Given the description of an element on the screen output the (x, y) to click on. 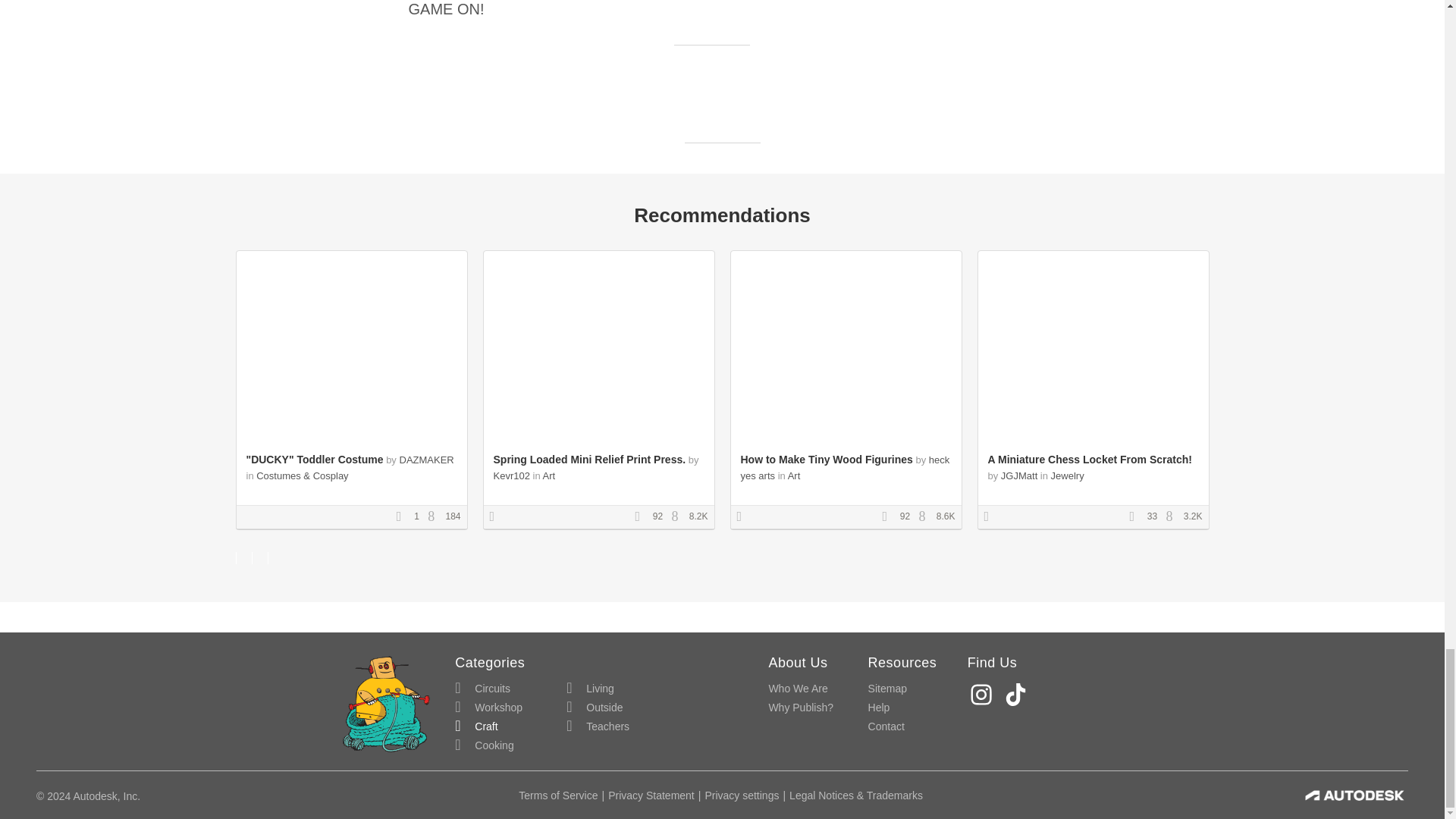
TikTok (1018, 694)
JGJMatt (1018, 475)
Art (549, 475)
Spring Loaded Mini Relief Print Press. (589, 459)
Art (793, 475)
"DUCKY" Toddler Costume (314, 459)
How to Make Tiny Wood Figurines (825, 459)
Views Count (925, 516)
Favorites Count (404, 516)
Favorites Count (889, 516)
Contest Winner (744, 516)
Views Count (678, 516)
Favorites Count (1136, 516)
Views Count (435, 516)
A Miniature Chess Locket From Scratch! (1089, 459)
